Given the description of an element on the screen output the (x, y) to click on. 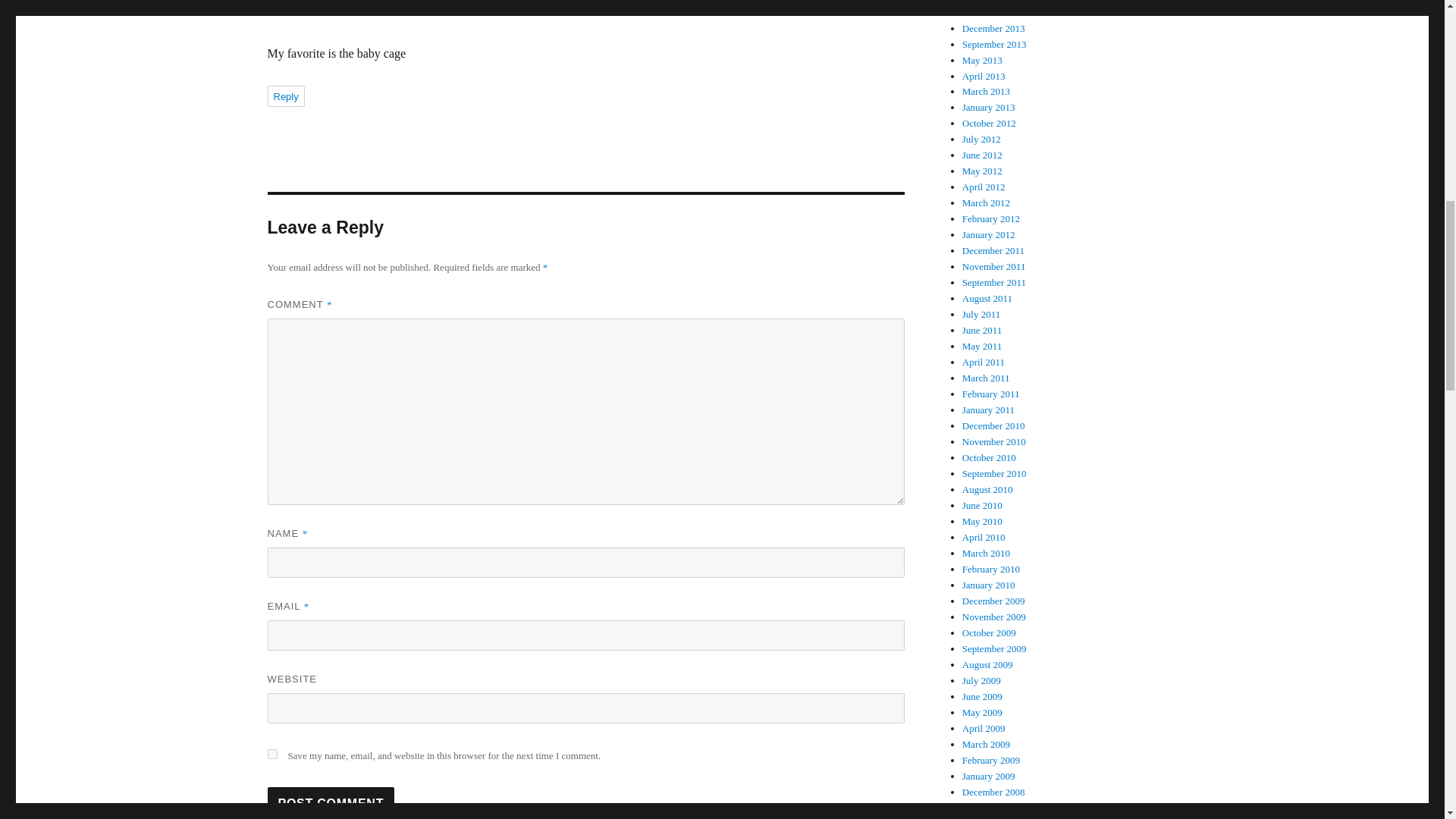
Post Comment (330, 803)
September 2013 (994, 43)
Reply (285, 96)
December 2014 (993, 1)
December 2013 (993, 28)
Post Comment (330, 803)
March 2014 (986, 12)
yes (271, 754)
